Given the description of an element on the screen output the (x, y) to click on. 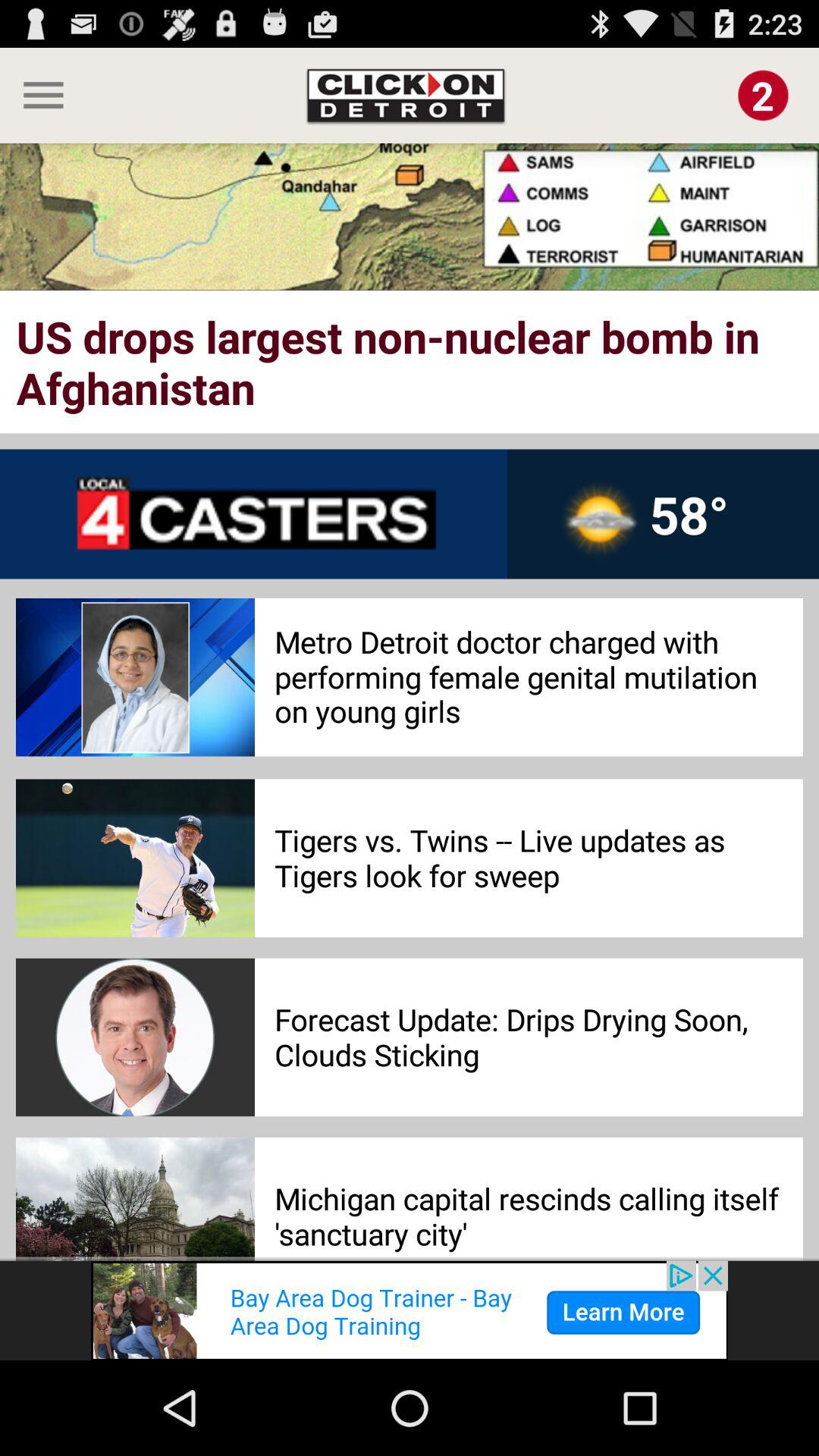
open advertisement (409, 1310)
